Given the description of an element on the screen output the (x, y) to click on. 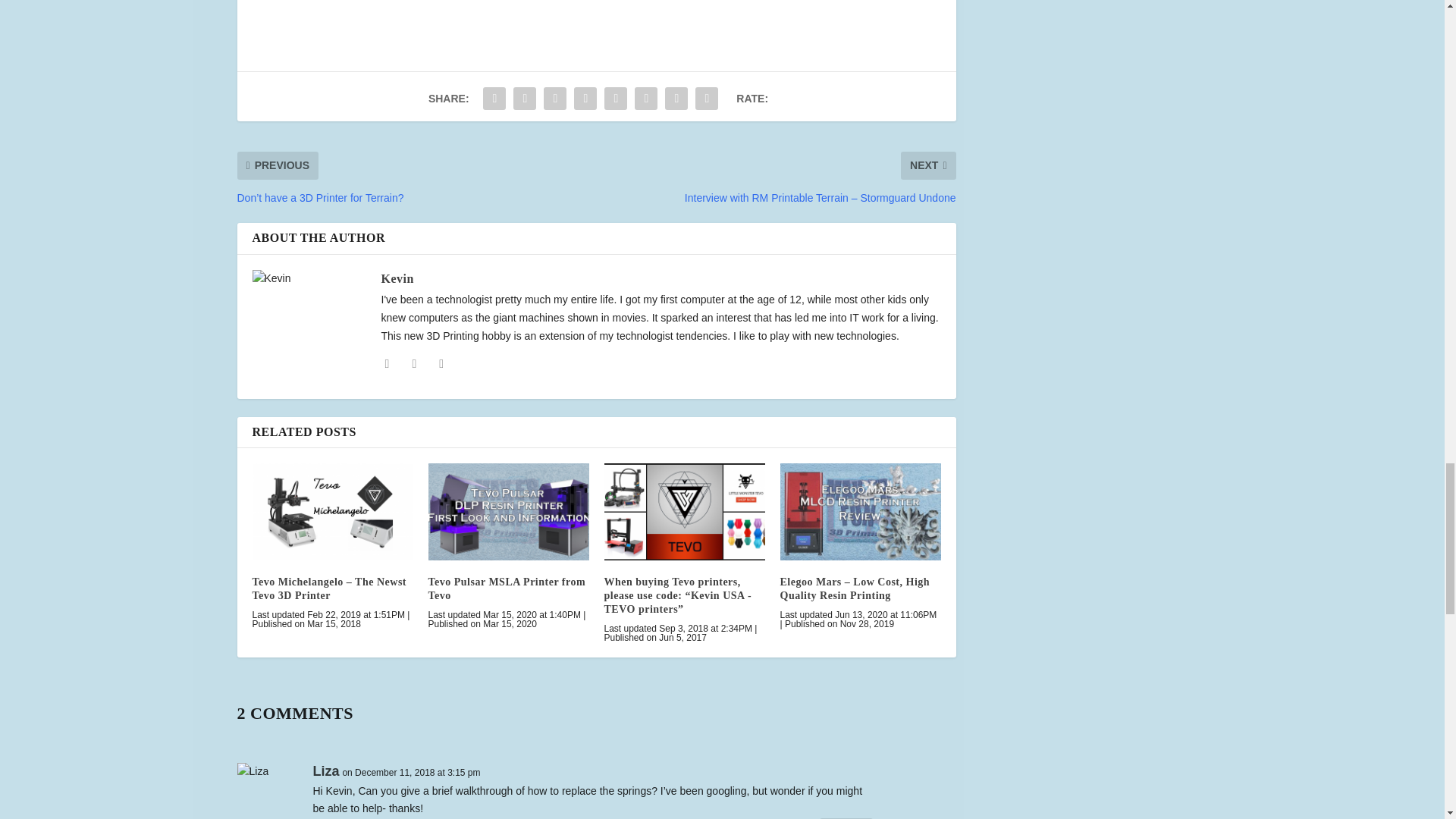
View all posts by Kevin (396, 278)
Tevo Pulsar MSLA Printer from Tevo (508, 511)
